Given the description of an element on the screen output the (x, y) to click on. 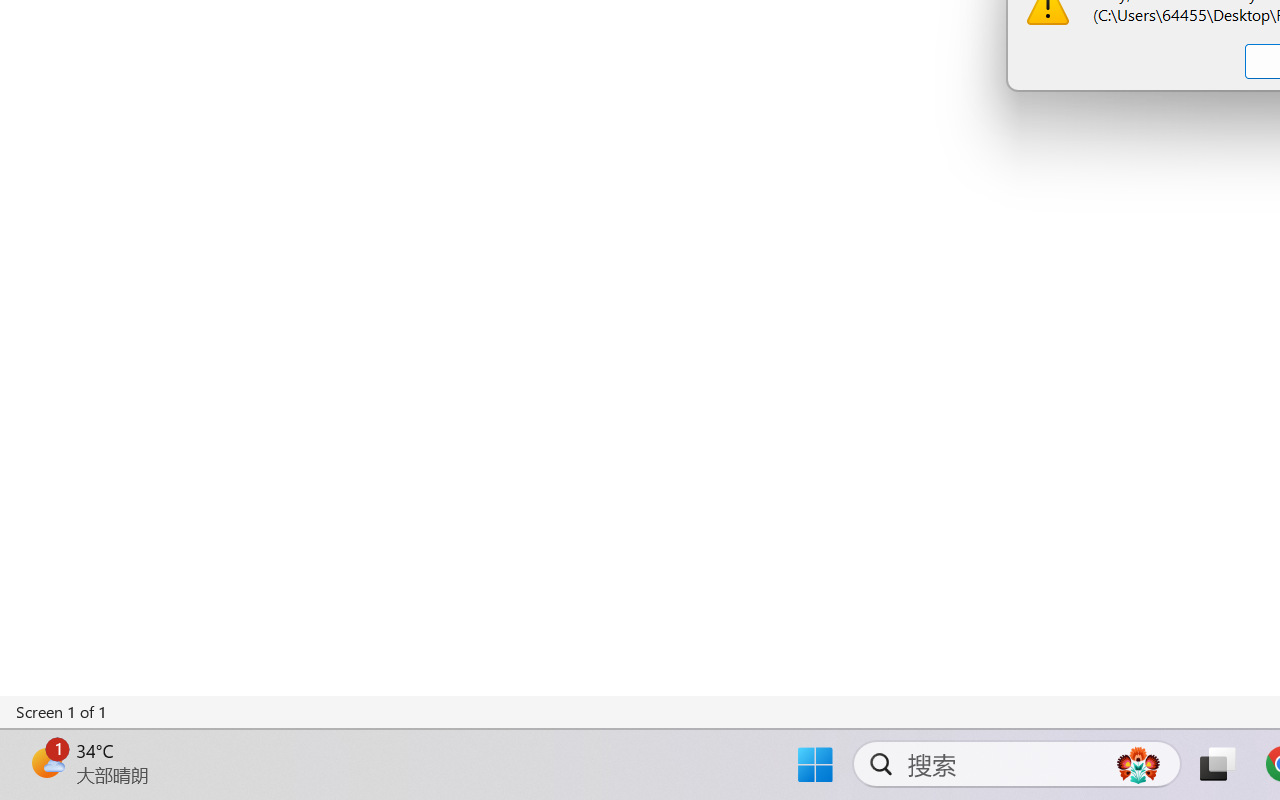
AutomationID: BadgeAnchorLargeTicker (46, 762)
Page Number Screen 1 of 1  (62, 712)
AutomationID: DynamicSearchBoxGleamImage (1138, 764)
